Given the description of an element on the screen output the (x, y) to click on. 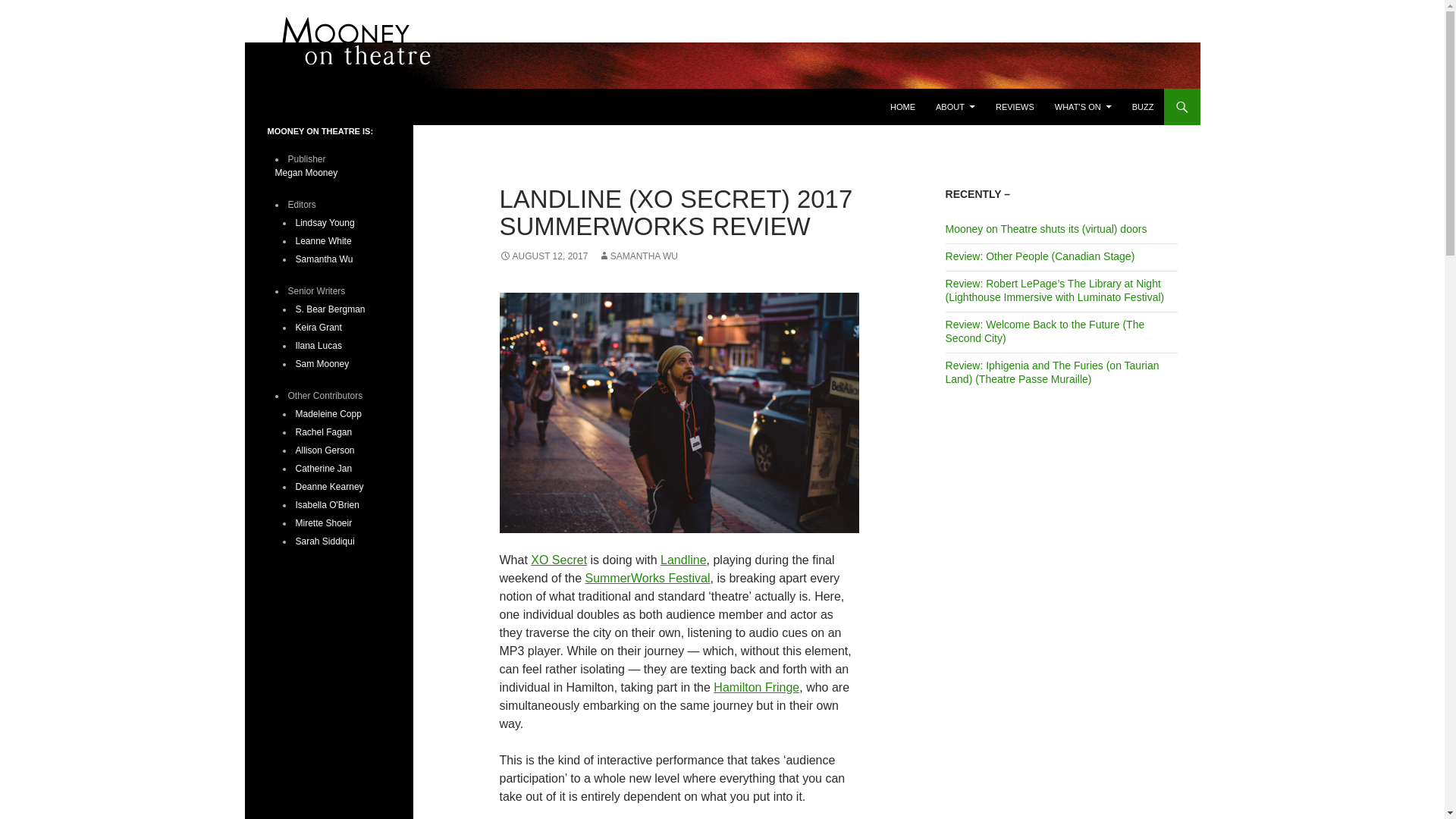
Megan Mooney (306, 172)
SAMANTHA WU (638, 255)
Lindsay Young (325, 222)
SummerWorks Festival (647, 577)
Leanne White (323, 240)
BUZZ (1142, 106)
REVIEWS (1015, 106)
Landline (683, 559)
Samantha Wu (324, 258)
Hamilton Fringe (756, 686)
